Given the description of an element on the screen output the (x, y) to click on. 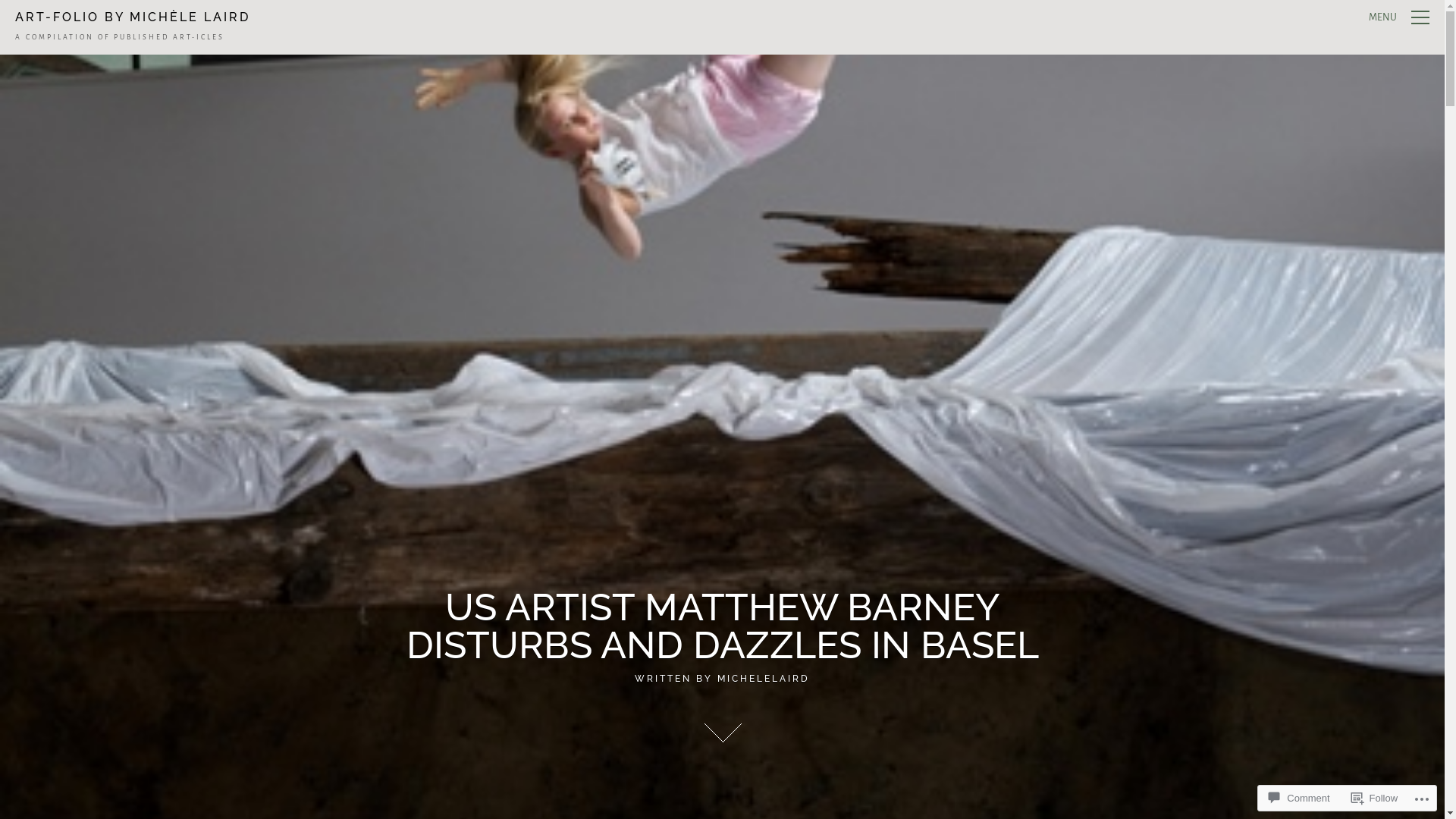
Follow Element type: text (1374, 797)
US ARTIST MATTHEW BARNEY DISTURBS AND DAZZLES IN BASEL Element type: text (722, 625)
MICHELELAIRD Element type: text (763, 678)
Comment Element type: text (1298, 797)
MENU Element type: text (1398, 17)
